Given the description of an element on the screen output the (x, y) to click on. 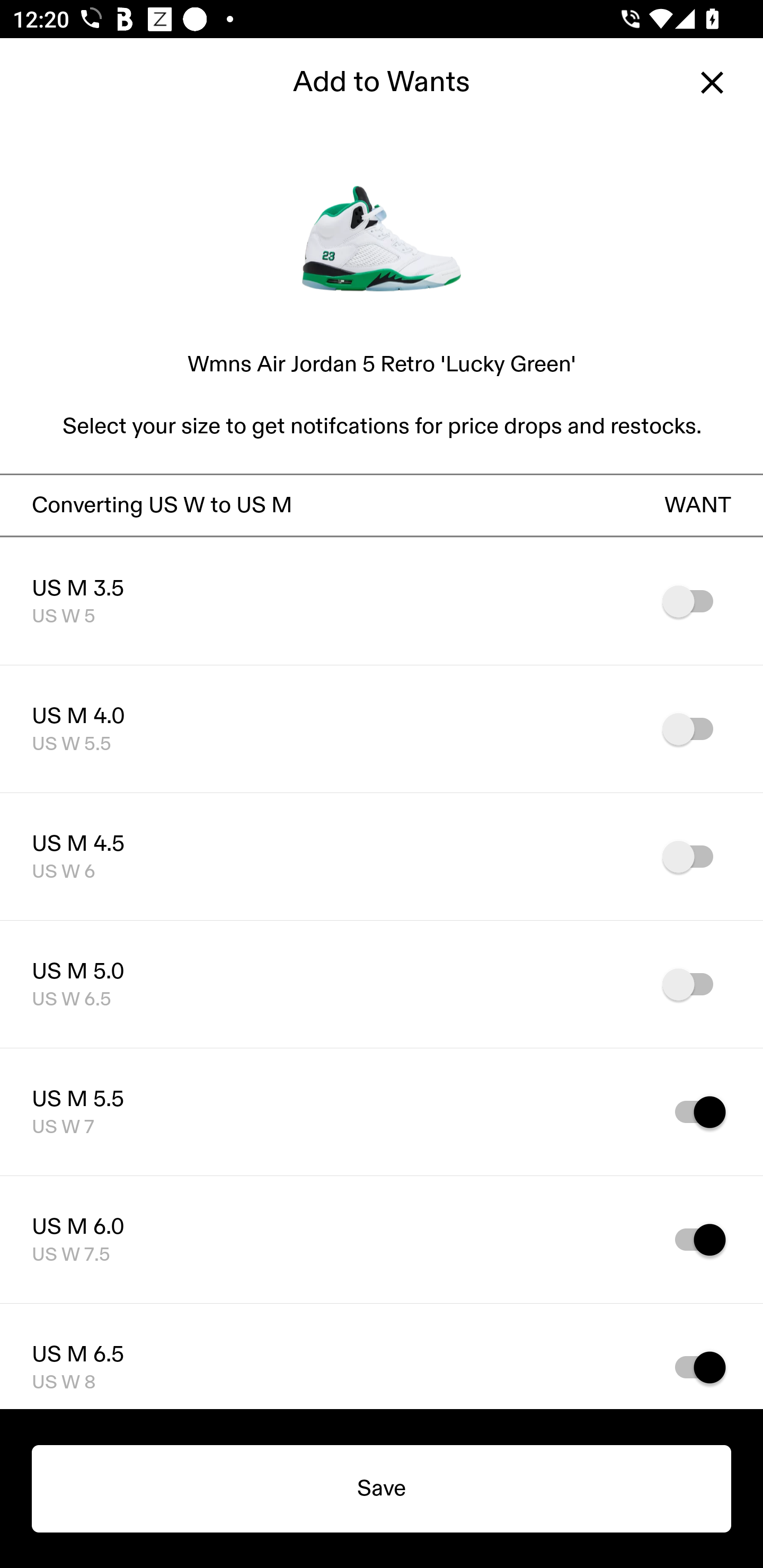
Save (381, 1488)
